Given the description of an element on the screen output the (x, y) to click on. 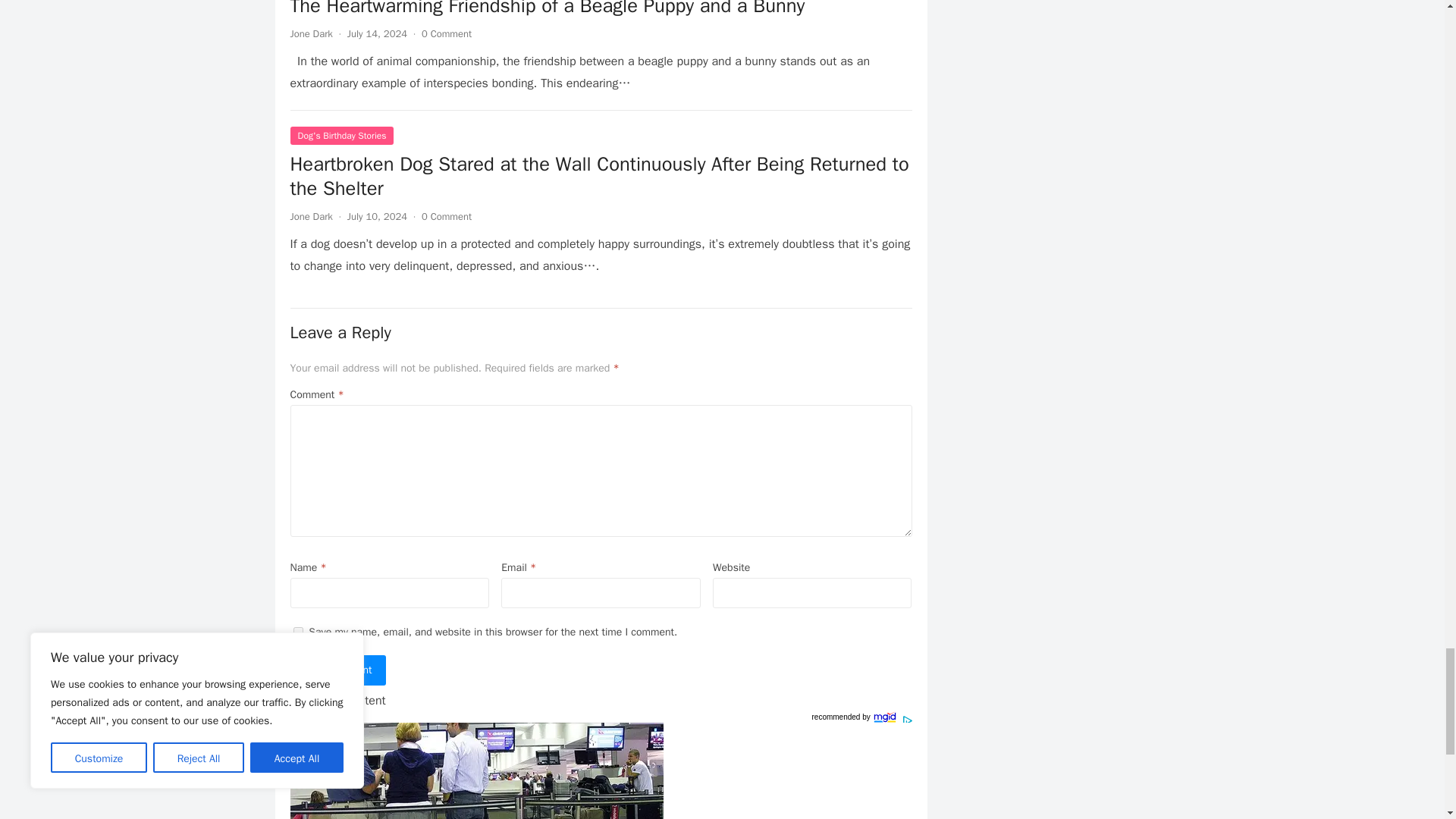
Posts by Jone Dark (310, 215)
Post Comment (337, 670)
Posts by Jone Dark (310, 33)
yes (297, 632)
